Given the description of an element on the screen output the (x, y) to click on. 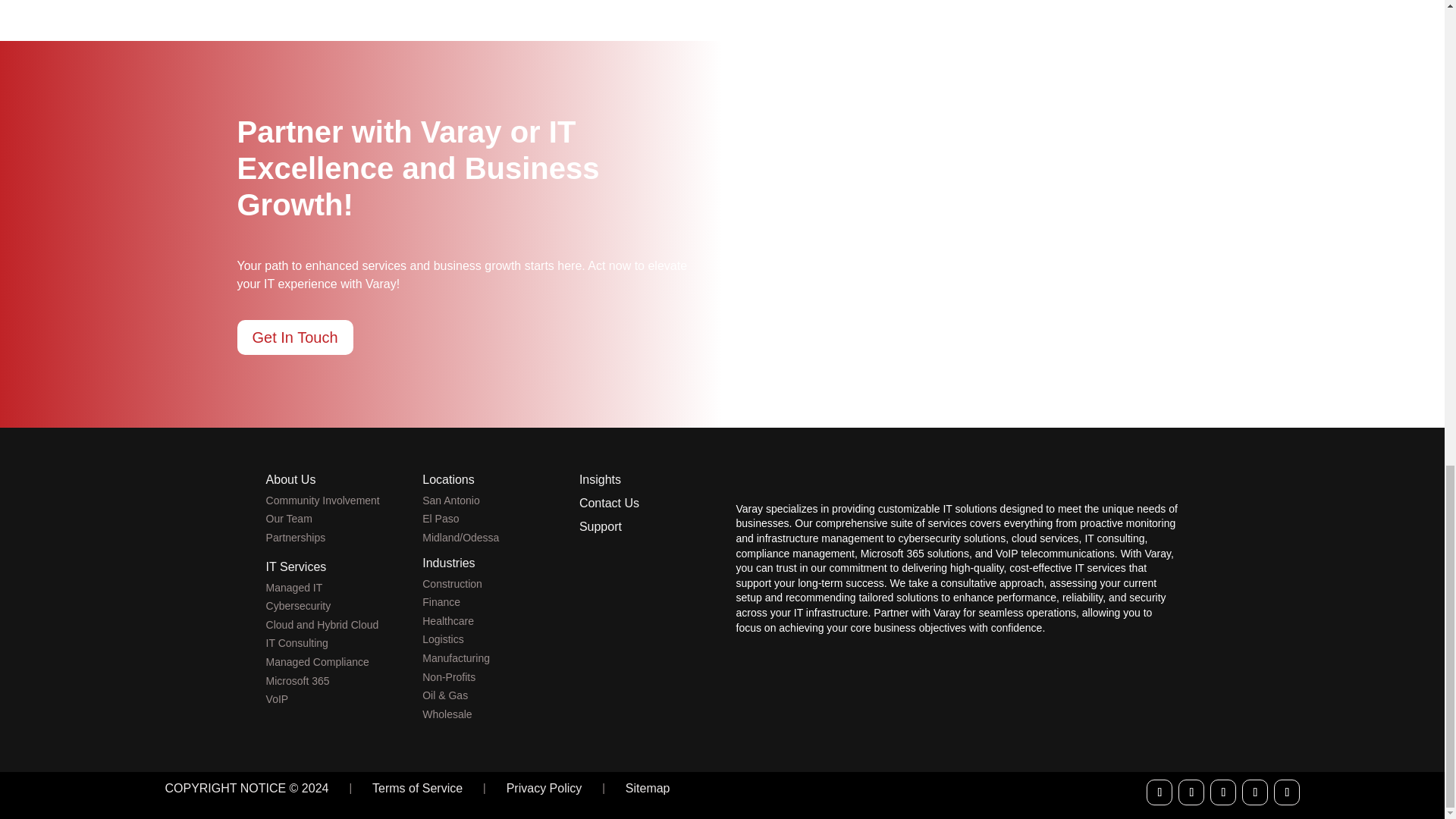
Follow on Youtube (1254, 792)
Follow on Facebook (1159, 792)
Follow on LinkedIn (1222, 792)
Follow on Instagram (1287, 792)
Follow on X (1190, 792)
